Given the description of an element on the screen output the (x, y) to click on. 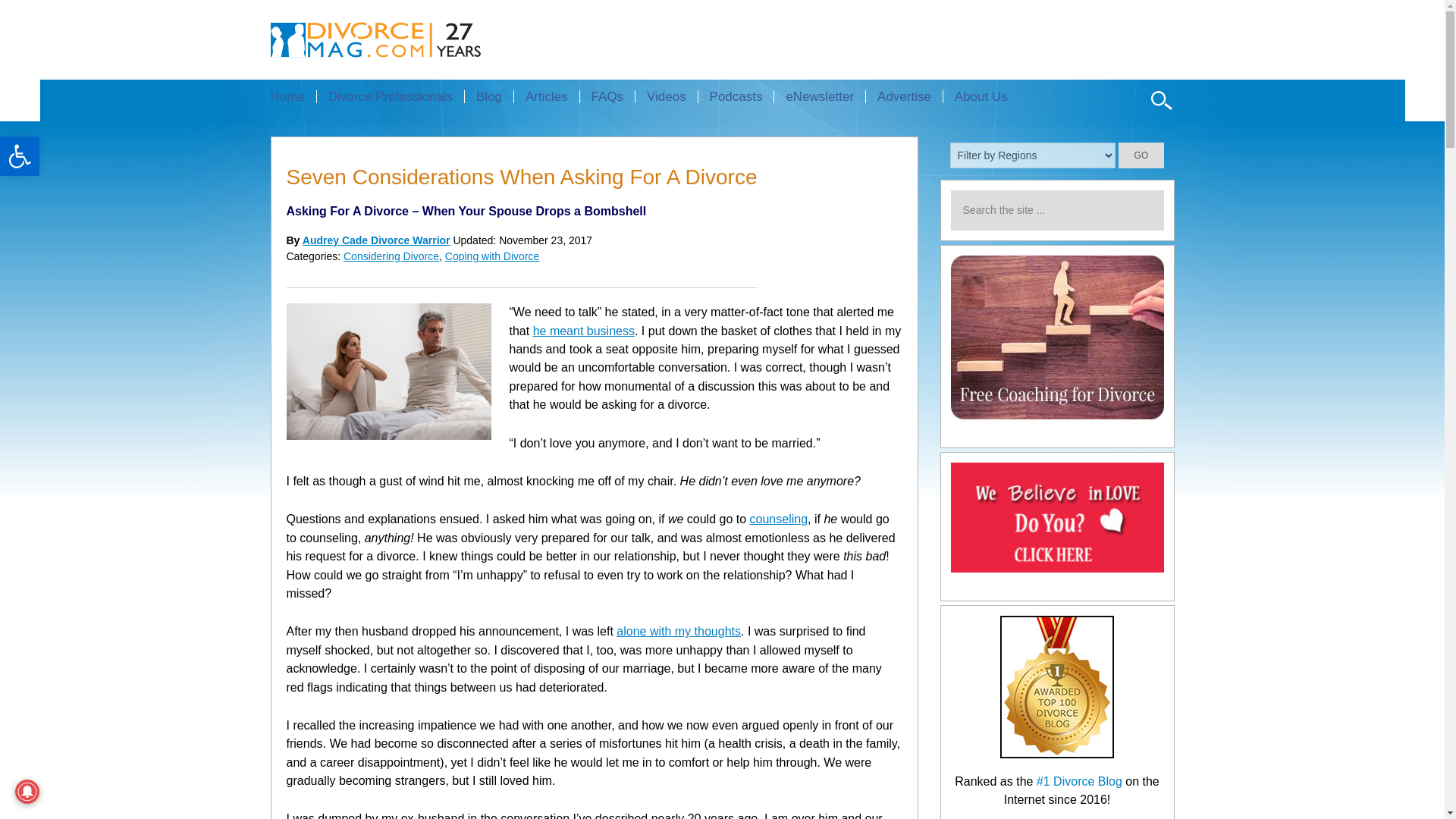
Divorce Professionals (389, 96)
Blog (488, 96)
Open toolbar (19, 156)
Articles (546, 96)
Divorce Magazine (401, 39)
Select Region (1032, 155)
Home (292, 96)
Accessibility Tools (19, 156)
